Given the description of an element on the screen output the (x, y) to click on. 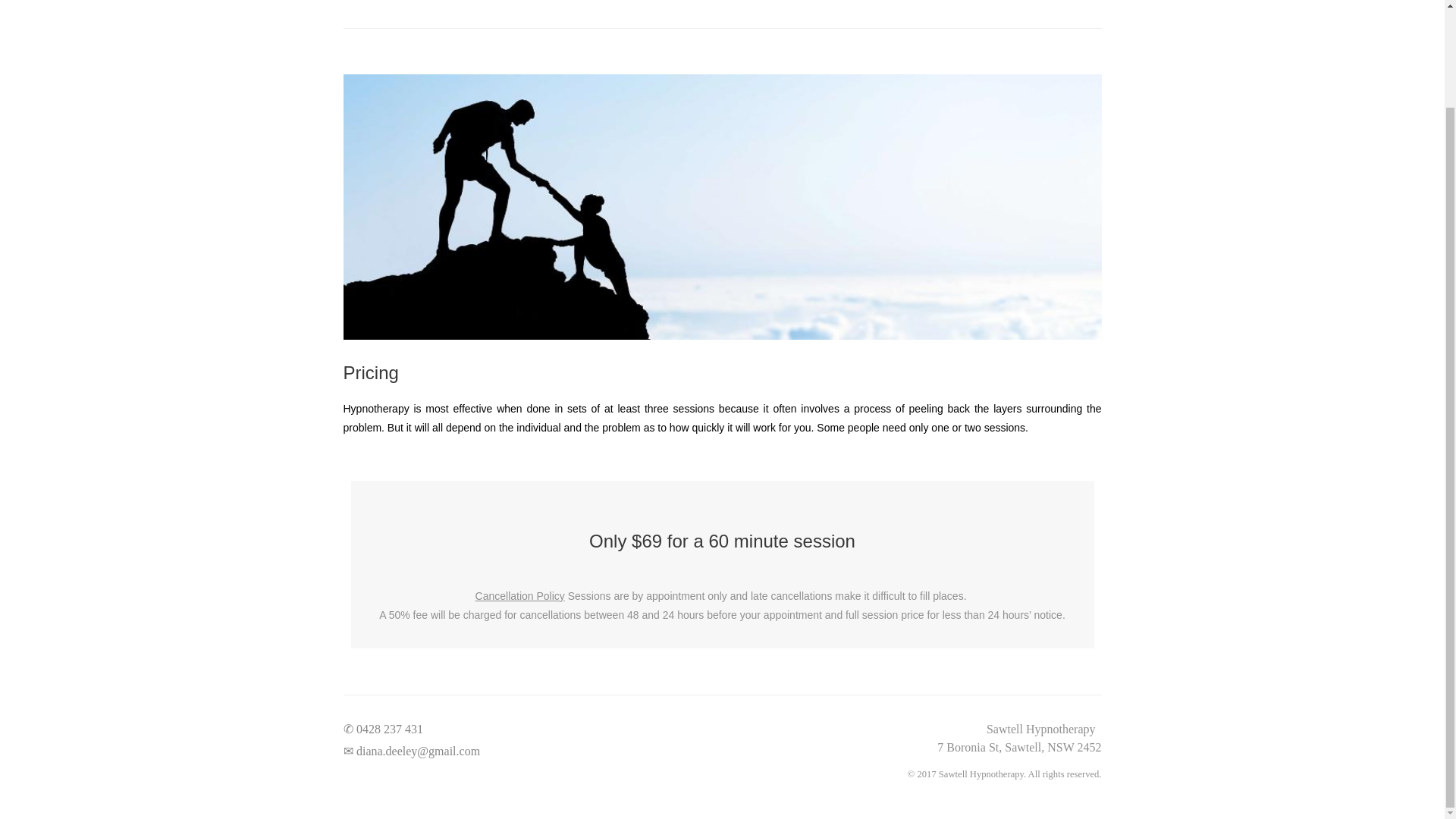
HOME (819, 2)
CONTACT (1067, 2)
FAQ'S (1007, 2)
PRICING (949, 2)
SERVICES (881, 2)
